Given the description of an element on the screen output the (x, y) to click on. 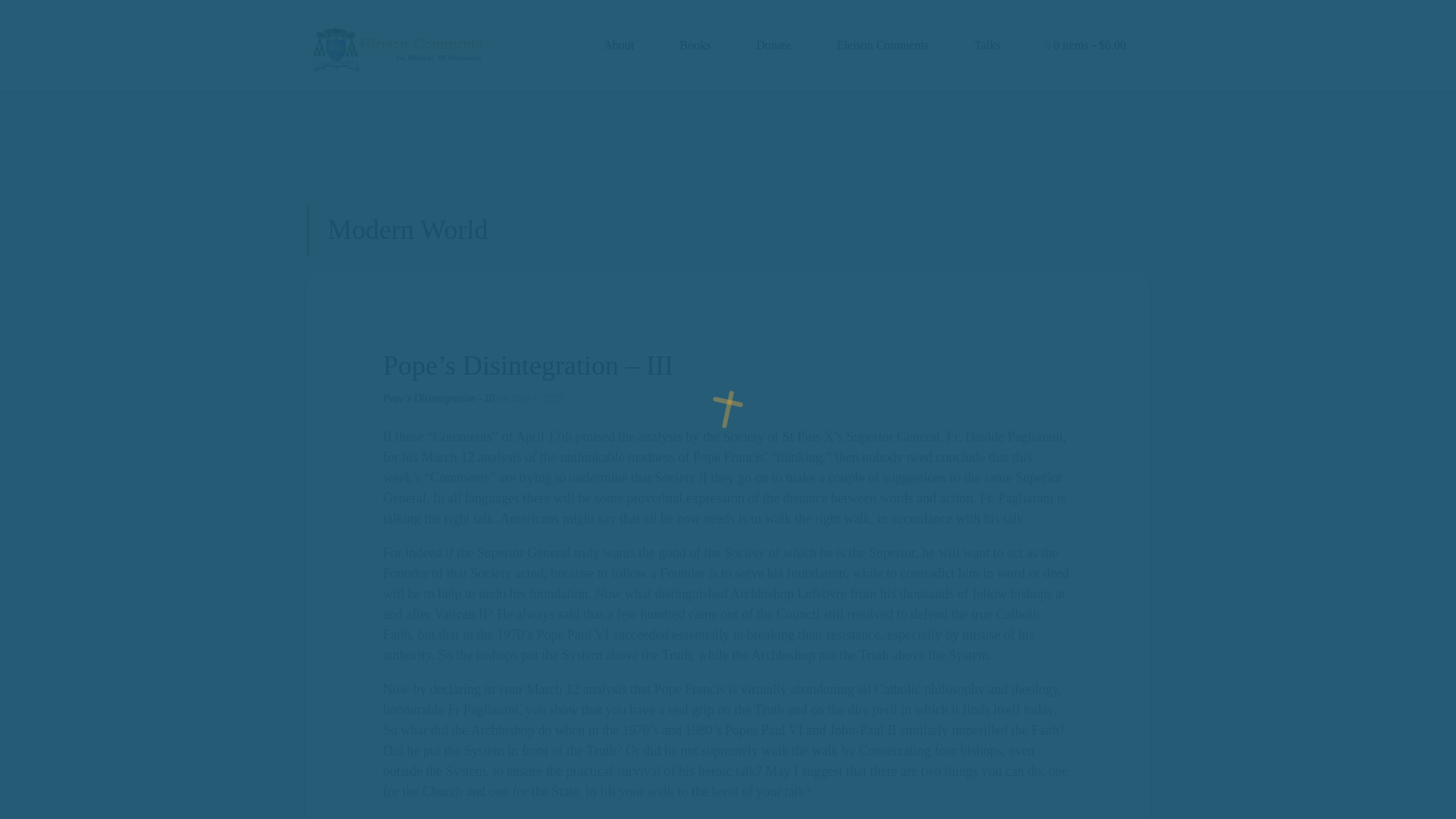
Eleison Comments (881, 45)
Pope's Disintegration - III (439, 398)
Eleison Comments (881, 45)
